Given the description of an element on the screen output the (x, y) to click on. 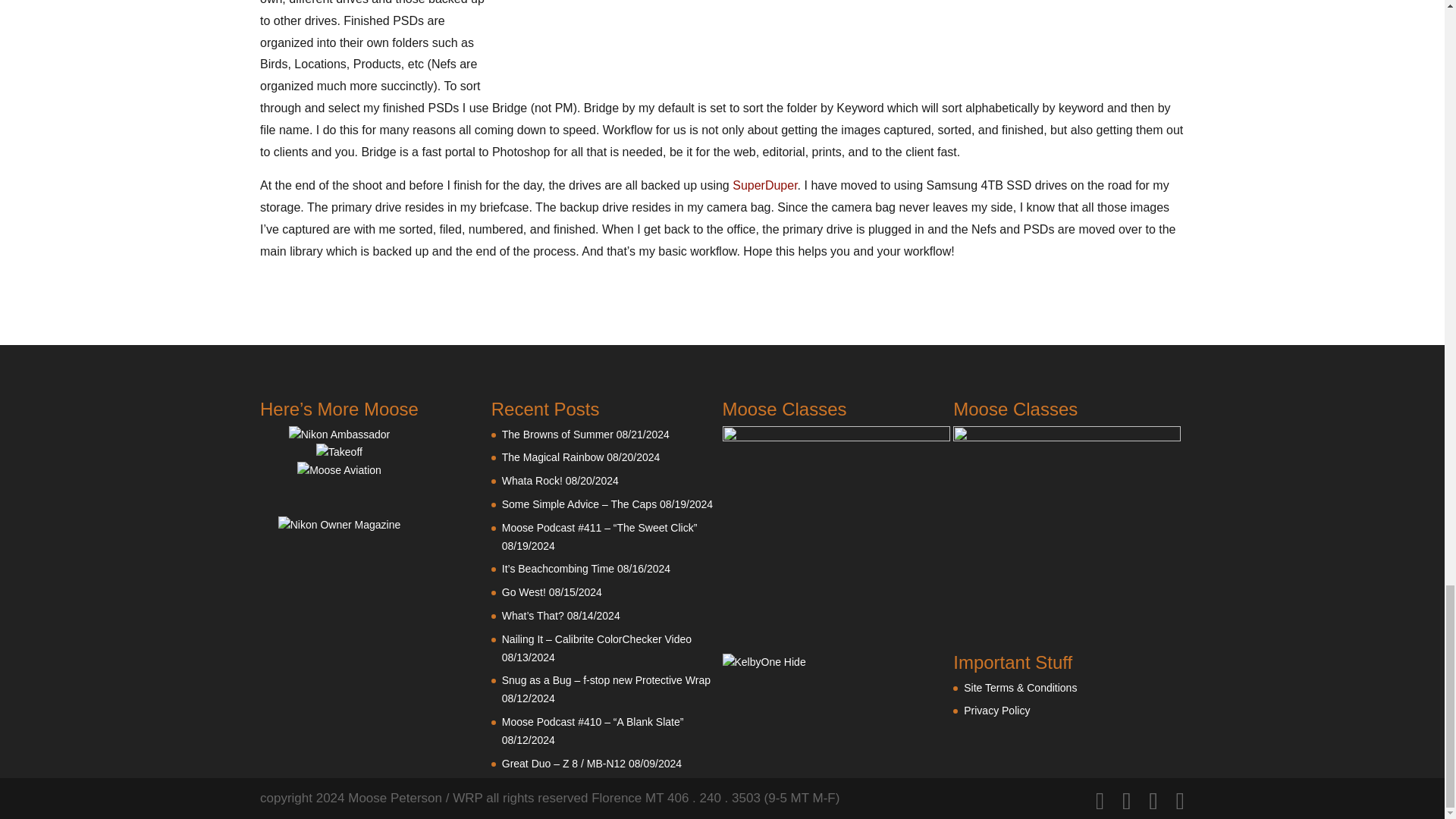
The Browns of Summer (557, 434)
SuperDuper (764, 185)
Nikon Owner Magazine (339, 524)
